Given the description of an element on the screen output the (x, y) to click on. 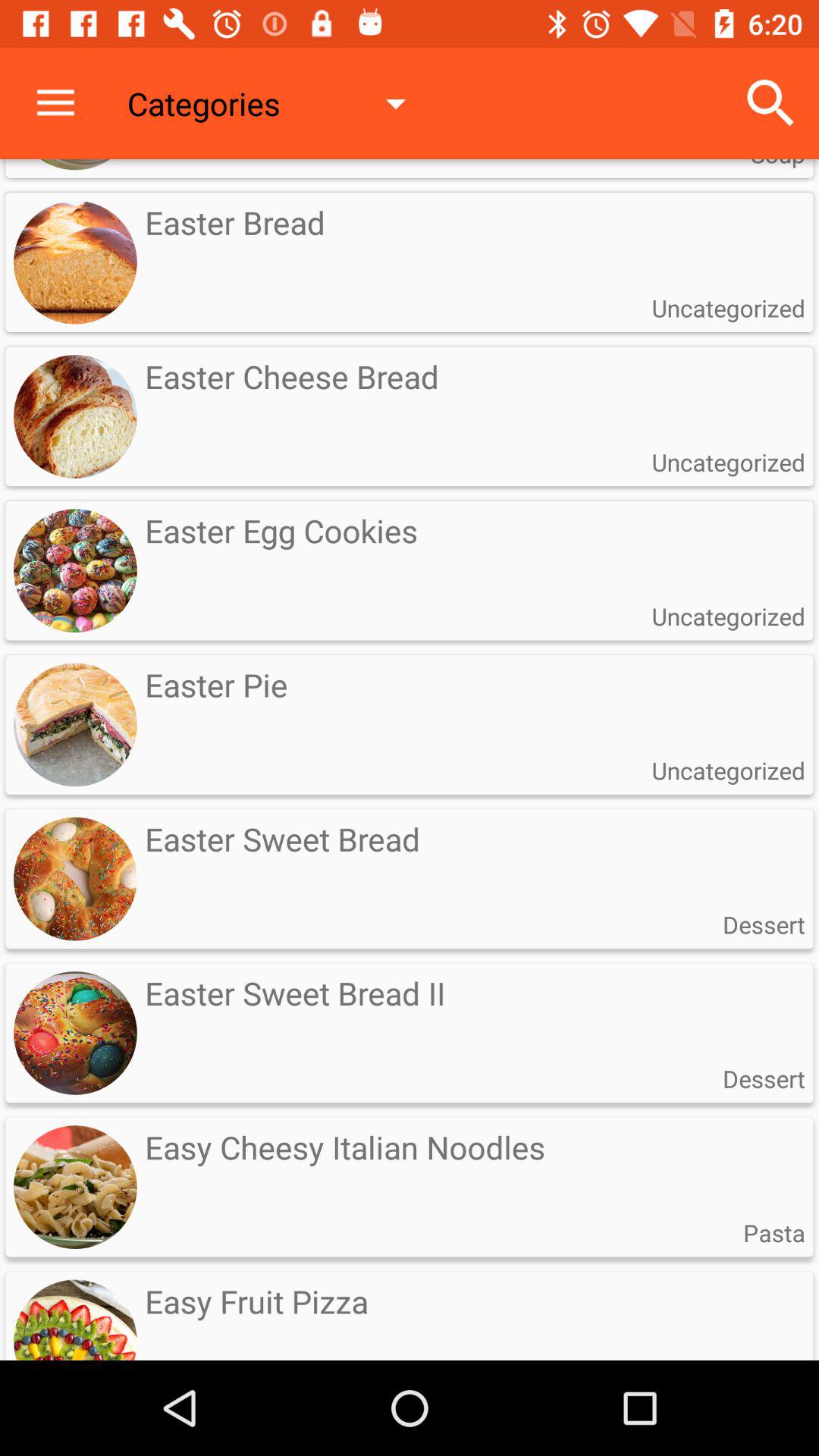
press the icon to the right of the categories item (771, 103)
